Given the description of an element on the screen output the (x, y) to click on. 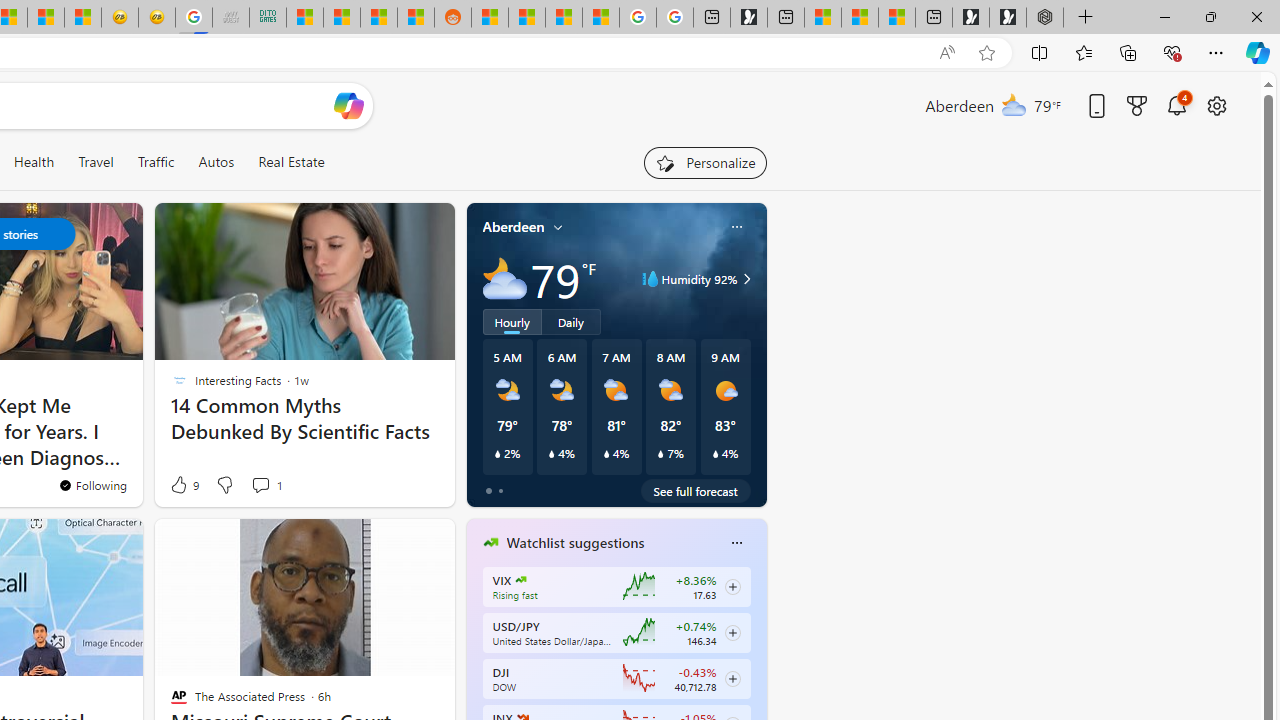
Aberdeen (513, 227)
next (756, 670)
